Given the description of an element on the screen output the (x, y) to click on. 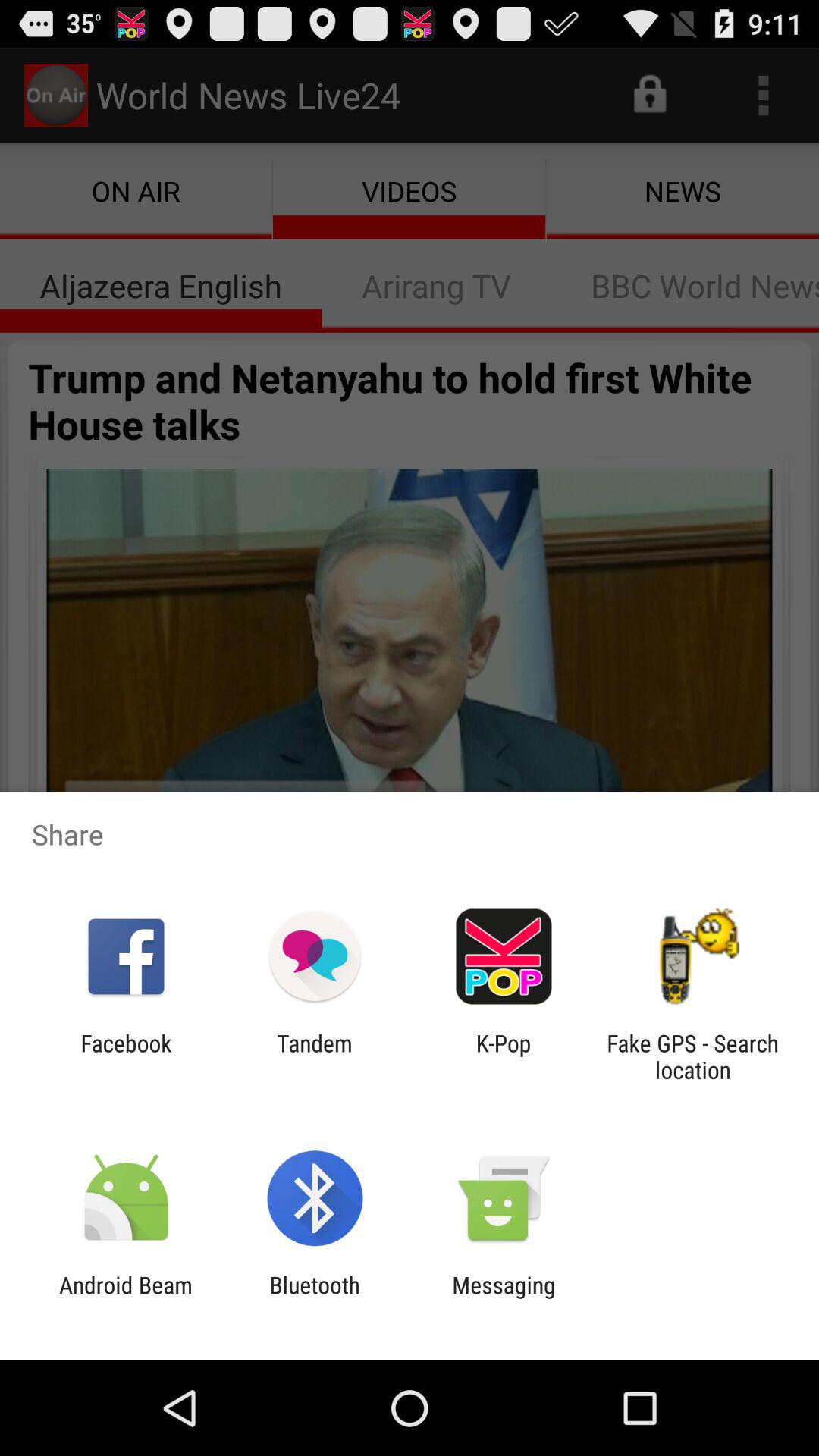
launch the item to the left of the bluetooth item (125, 1298)
